Given the description of an element on the screen output the (x, y) to click on. 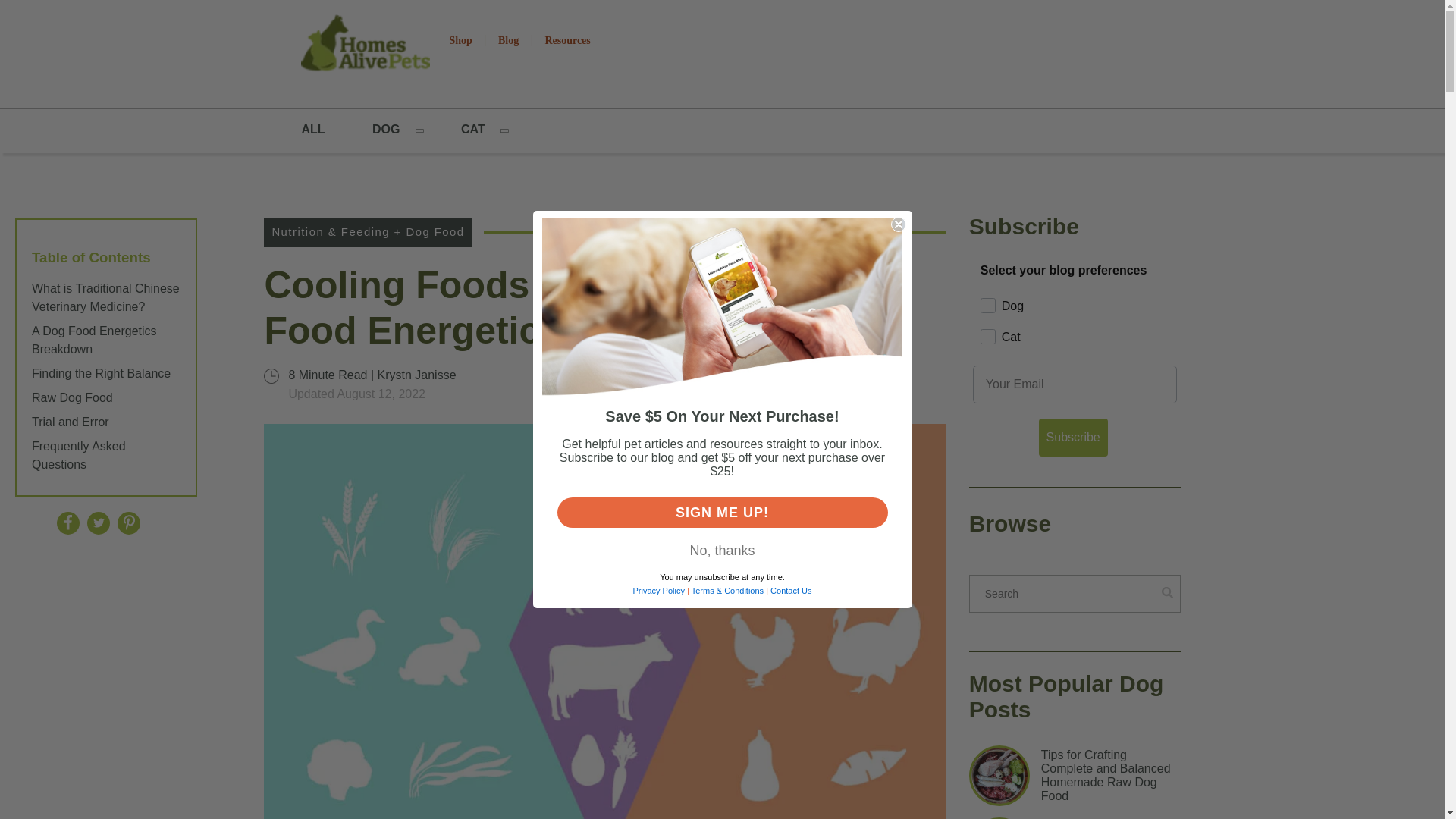
on (984, 293)
ALL (313, 129)
Blog (507, 40)
What is Traditional Chinese Veterinary Medicine? (106, 298)
on (984, 324)
CAT (472, 129)
HomesAlive Pets Canada (365, 46)
Close dialog 15 (897, 224)
Resources (566, 40)
Shop (460, 40)
how long can my puppy hold his bladder (999, 818)
DOG (385, 129)
